Given the description of an element on the screen output the (x, y) to click on. 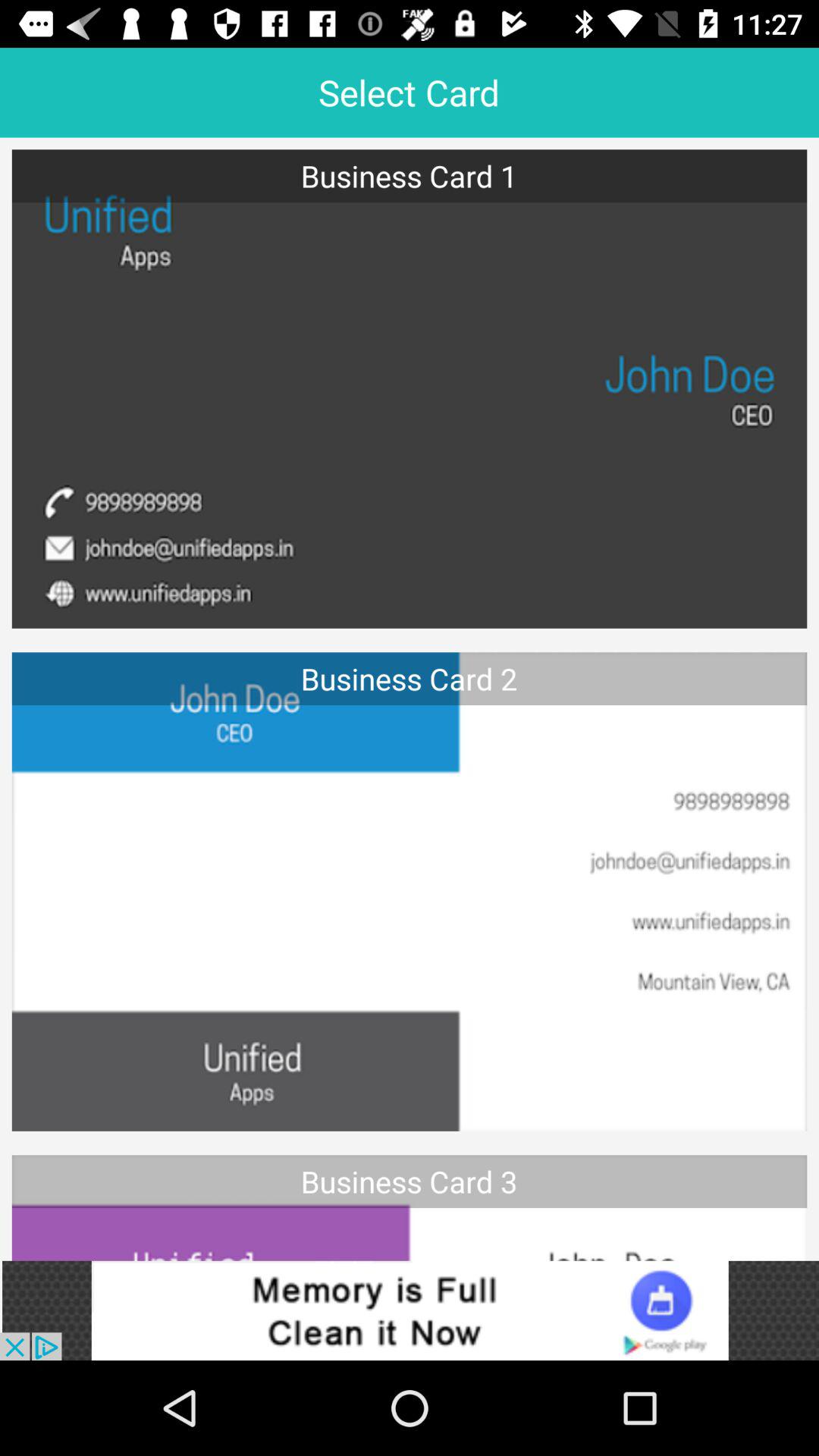
open app advertisement (409, 1310)
